Given the description of an element on the screen output the (x, y) to click on. 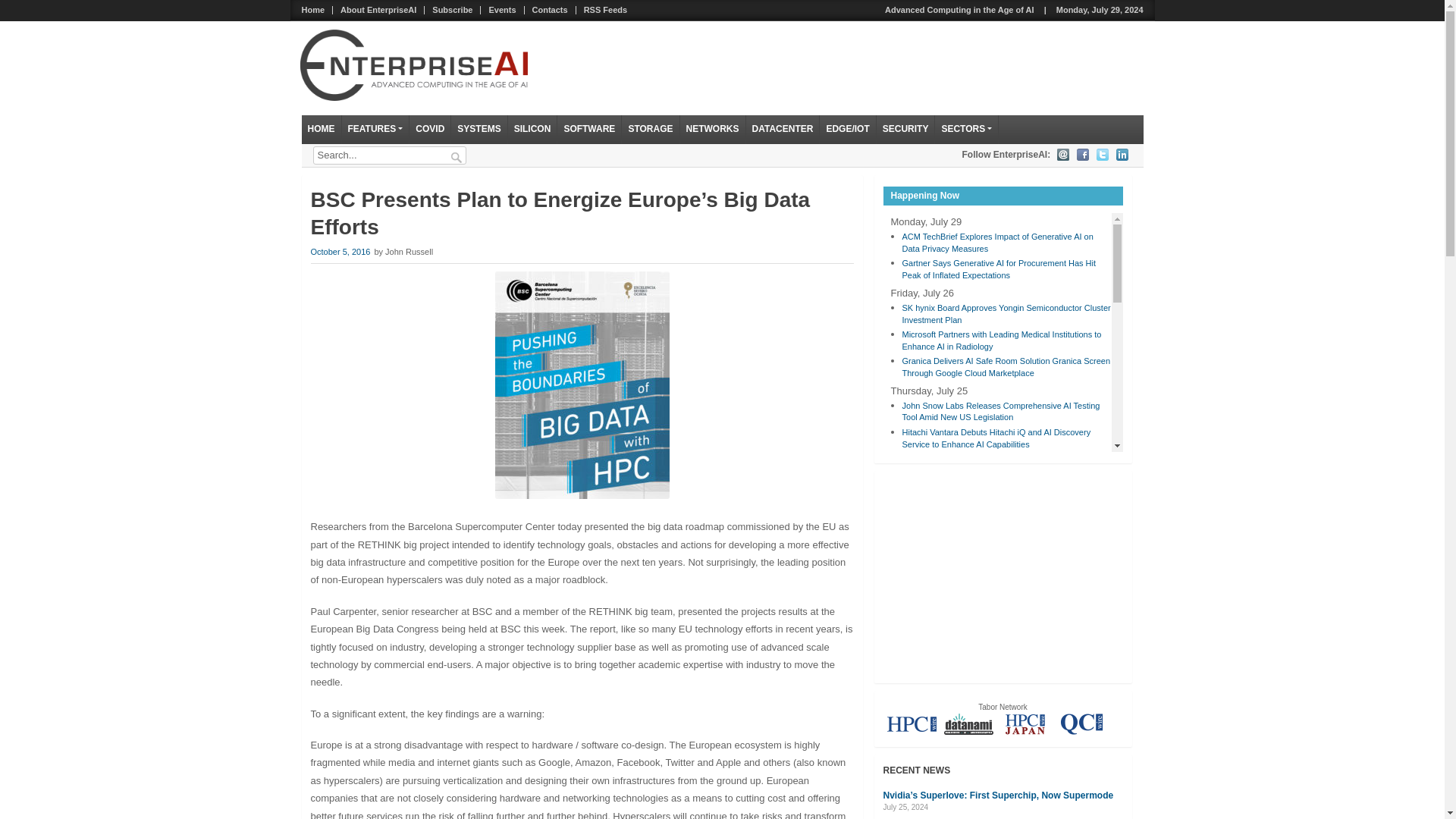
Events (502, 9)
RSS Feeds (605, 9)
FEATURES (374, 129)
Follow Us on Twitter (1102, 154)
DATACENTER (783, 129)
SOFTWARE (589, 129)
October 5, 2016 (341, 251)
Follow Us on LinkedIn (1122, 154)
About EnterpriseAI (379, 9)
SYSTEMS (478, 129)
STORAGE (650, 129)
Subscribe (452, 9)
Home (313, 9)
